Given the description of an element on the screen output the (x, y) to click on. 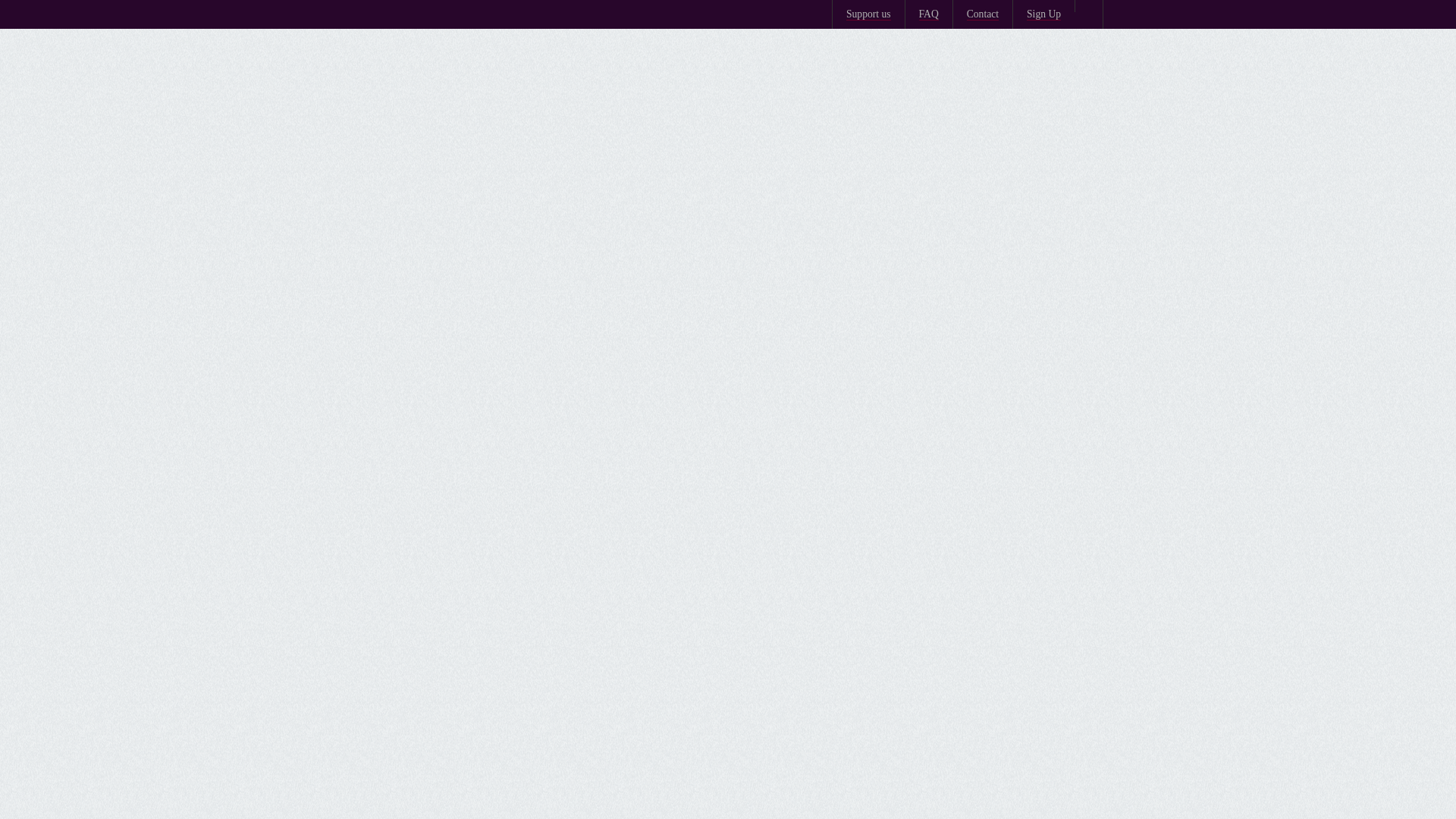
Sign Up (1043, 14)
Contact (982, 14)
FAQ (928, 14)
Support us (868, 14)
